Given the description of an element on the screen output the (x, y) to click on. 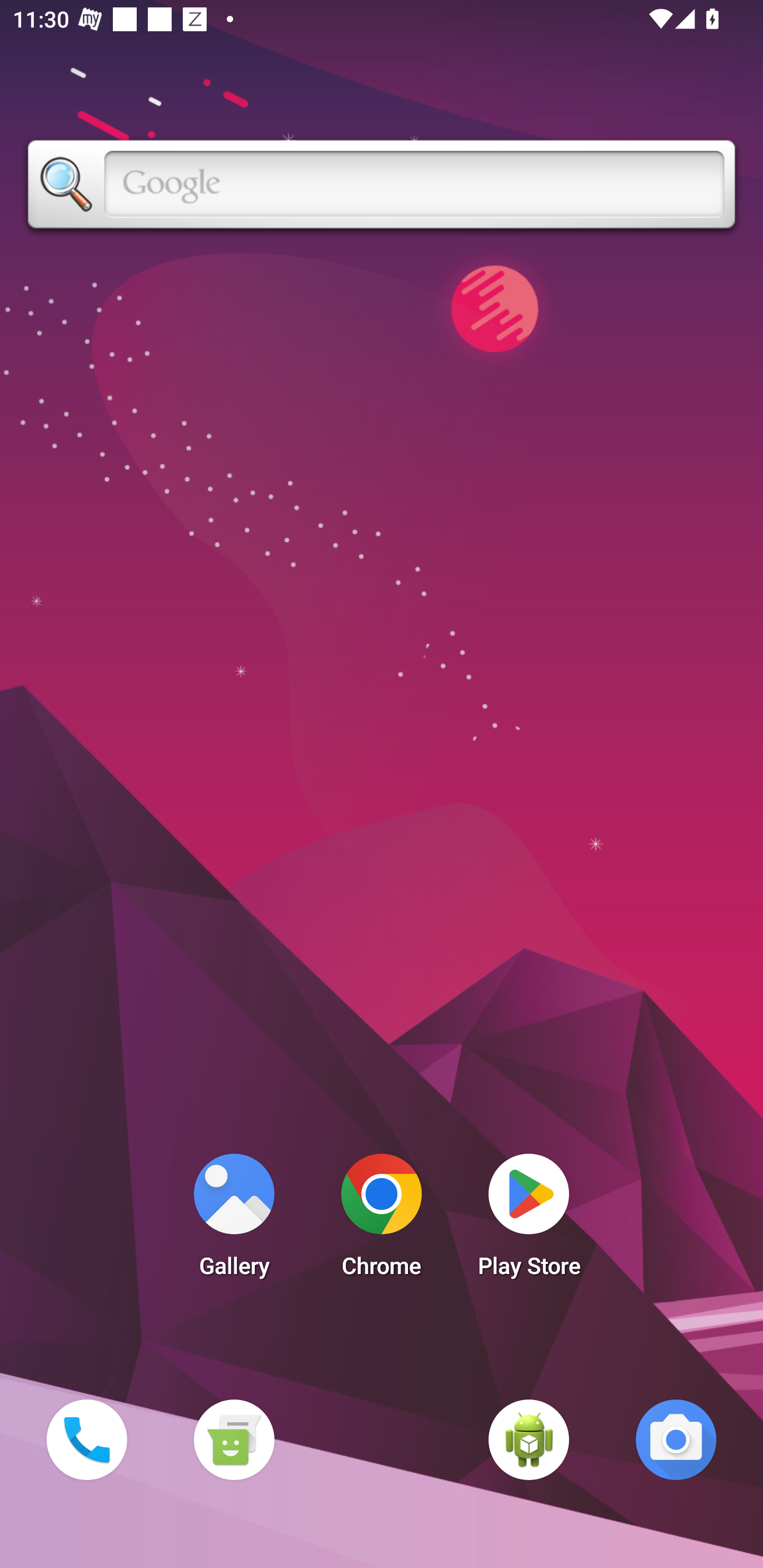
Gallery (233, 1220)
Chrome (381, 1220)
Play Store (528, 1220)
Phone (86, 1439)
Messaging (233, 1439)
WebView Browser Tester (528, 1439)
Camera (676, 1439)
